Given the description of an element on the screen output the (x, y) to click on. 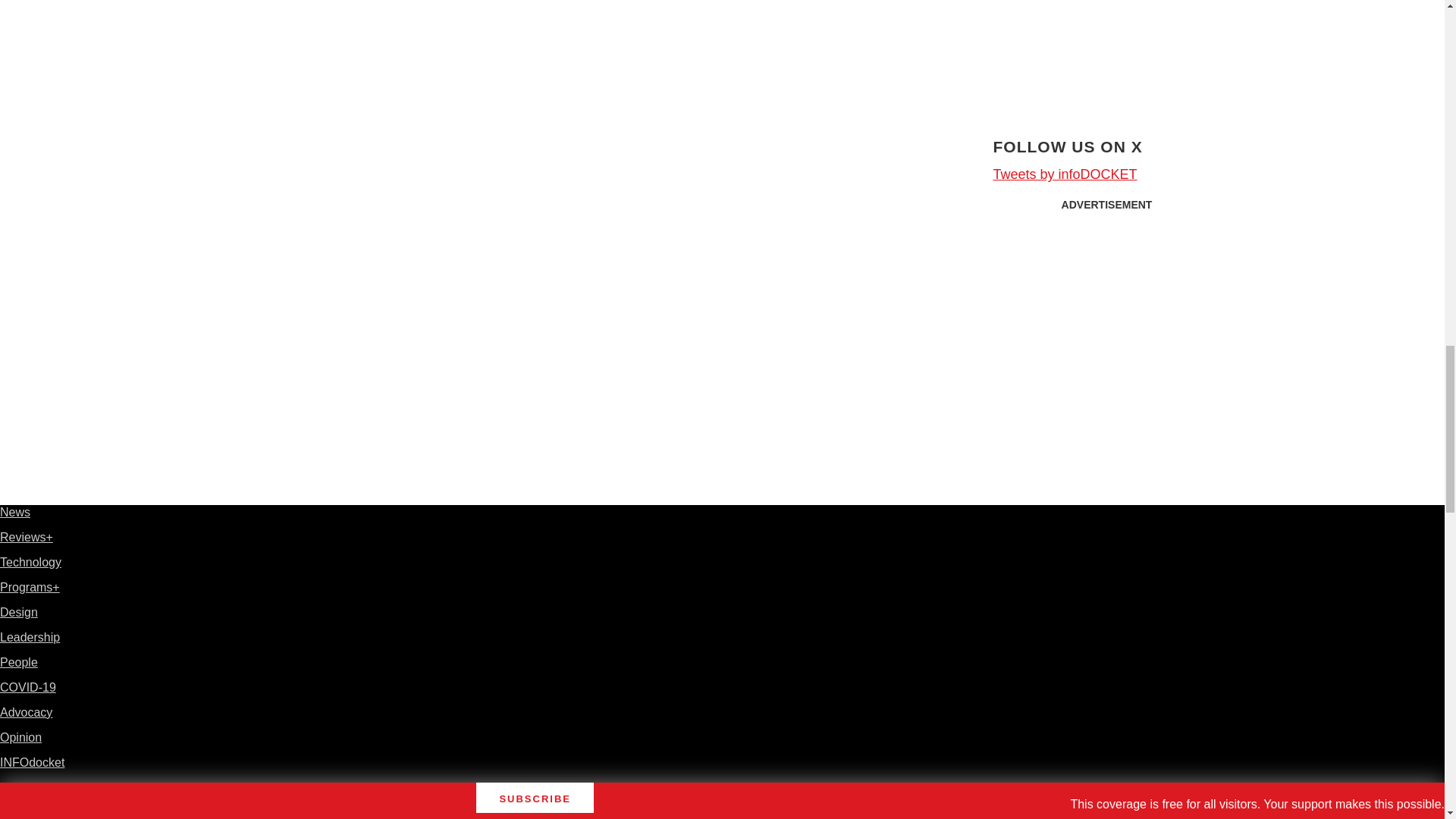
3rd party ad content (1106, 49)
3rd party ad content (1106, 313)
